Given the description of an element on the screen output the (x, y) to click on. 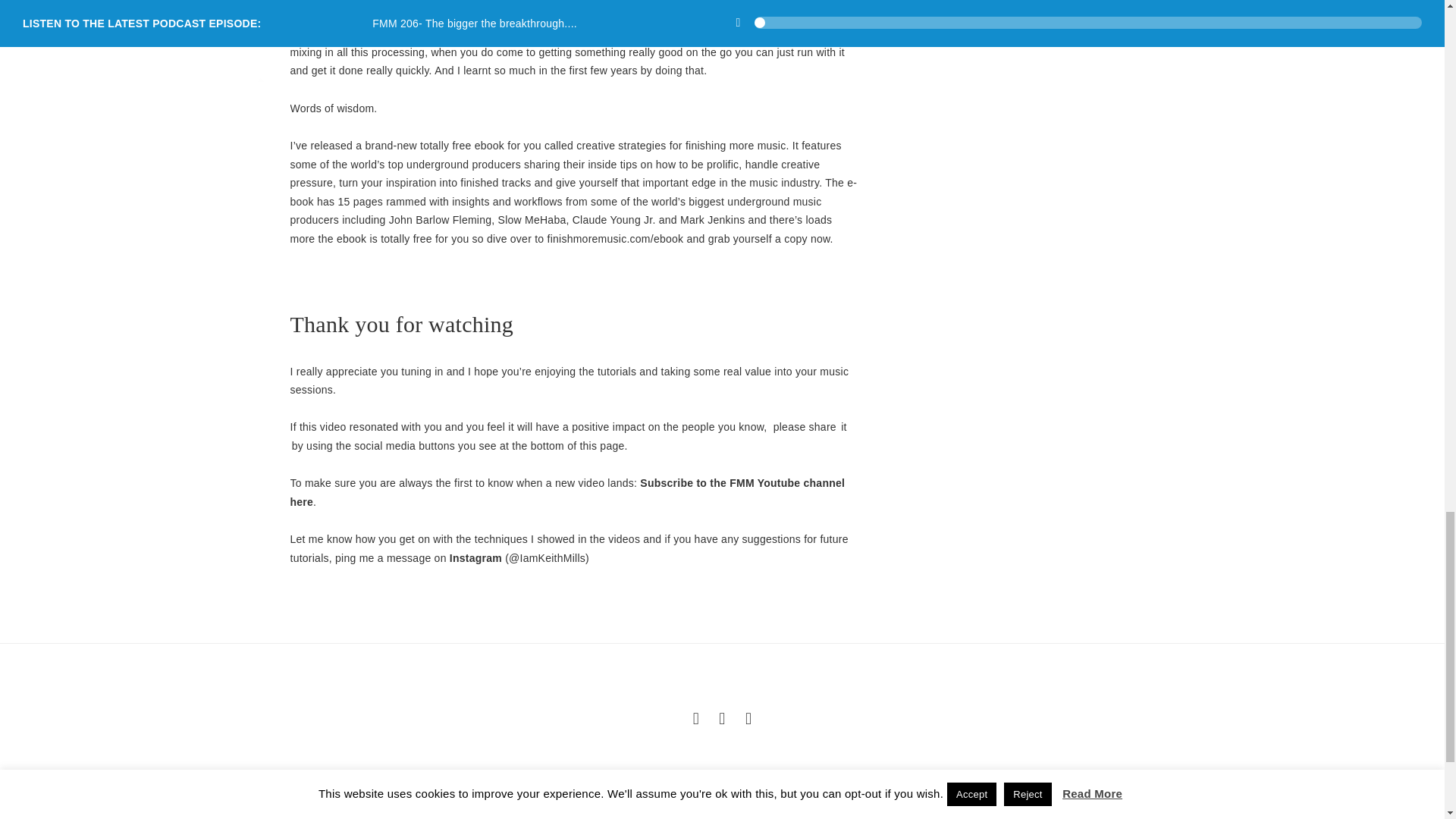
Subscribe to the FMM Youtube channel here (566, 491)
To All Works (721, 717)
Instagram (475, 558)
